Given the description of an element on the screen output the (x, y) to click on. 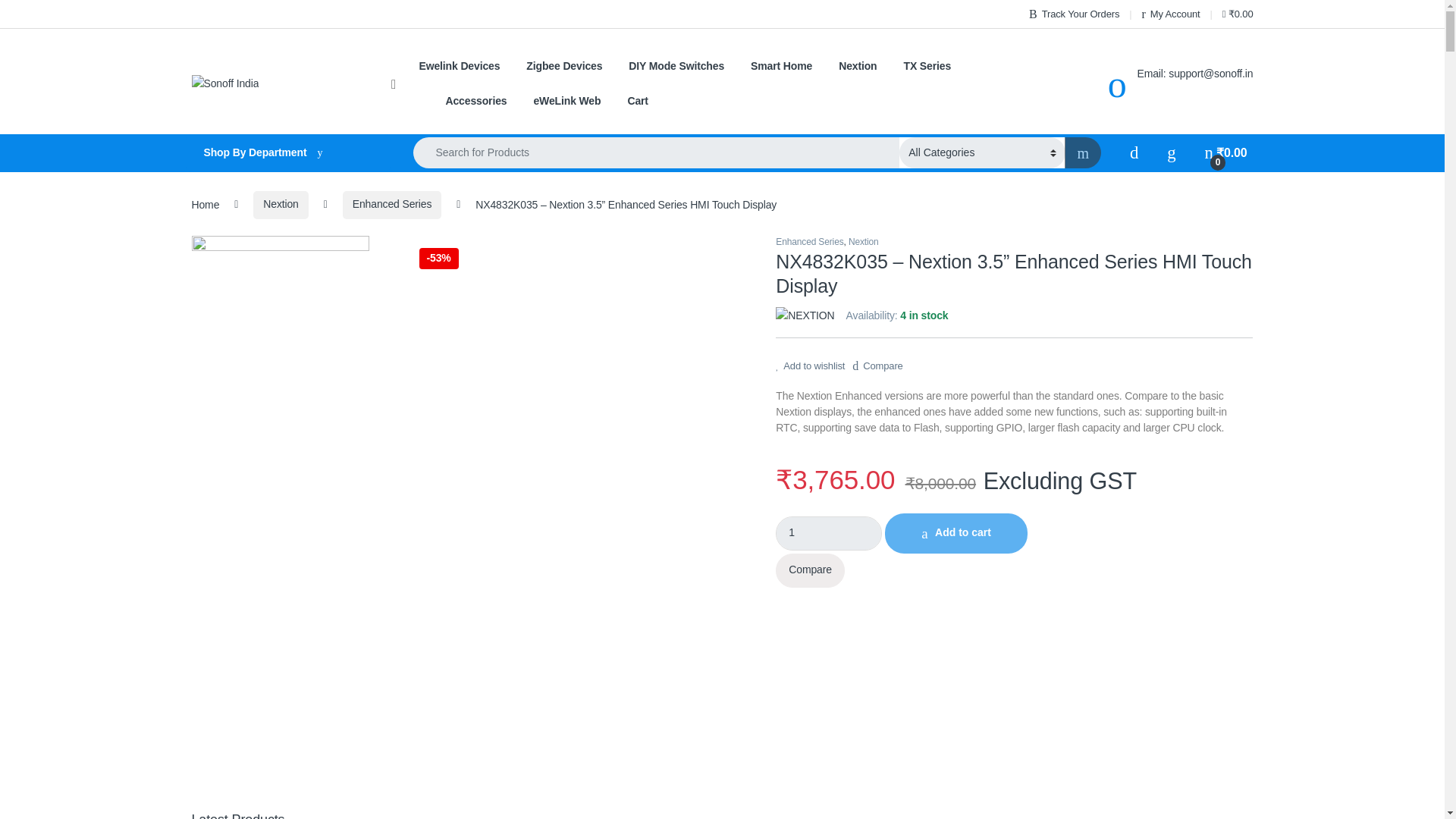
1 (829, 533)
Track Your Orders (1074, 13)
My Account (1170, 13)
My Account (1170, 13)
Track Your Orders (1074, 13)
